Given the description of an element on the screen output the (x, y) to click on. 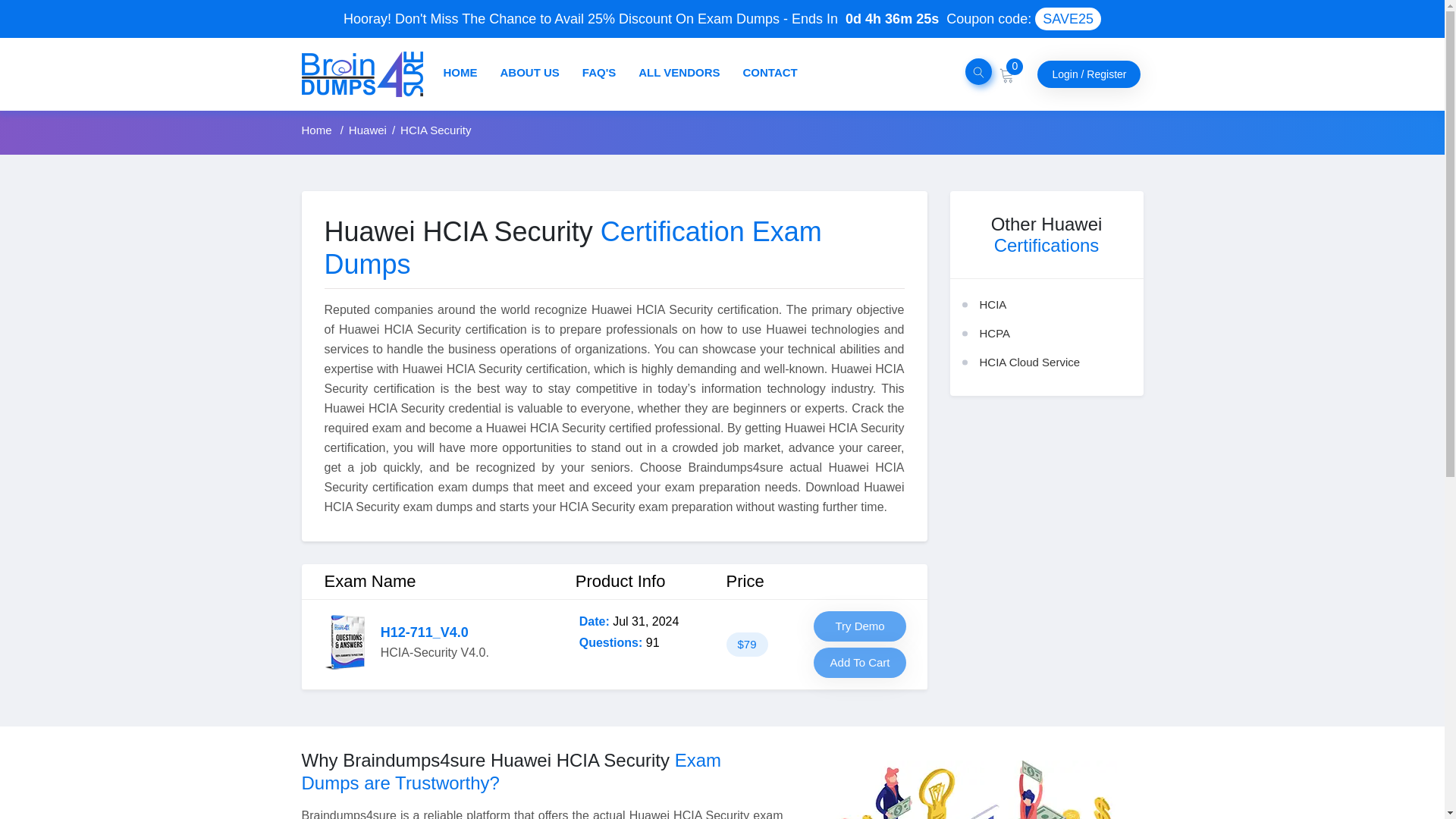
Home (317, 129)
Try Demo (860, 625)
0 (1006, 72)
ALL VENDORS (679, 72)
FAQ'S (598, 72)
HCPA (994, 332)
HCIA (993, 304)
Add To Cart (860, 662)
ABOUT US (529, 72)
HCIA Cloud Service (1029, 361)
